Given the description of an element on the screen output the (x, y) to click on. 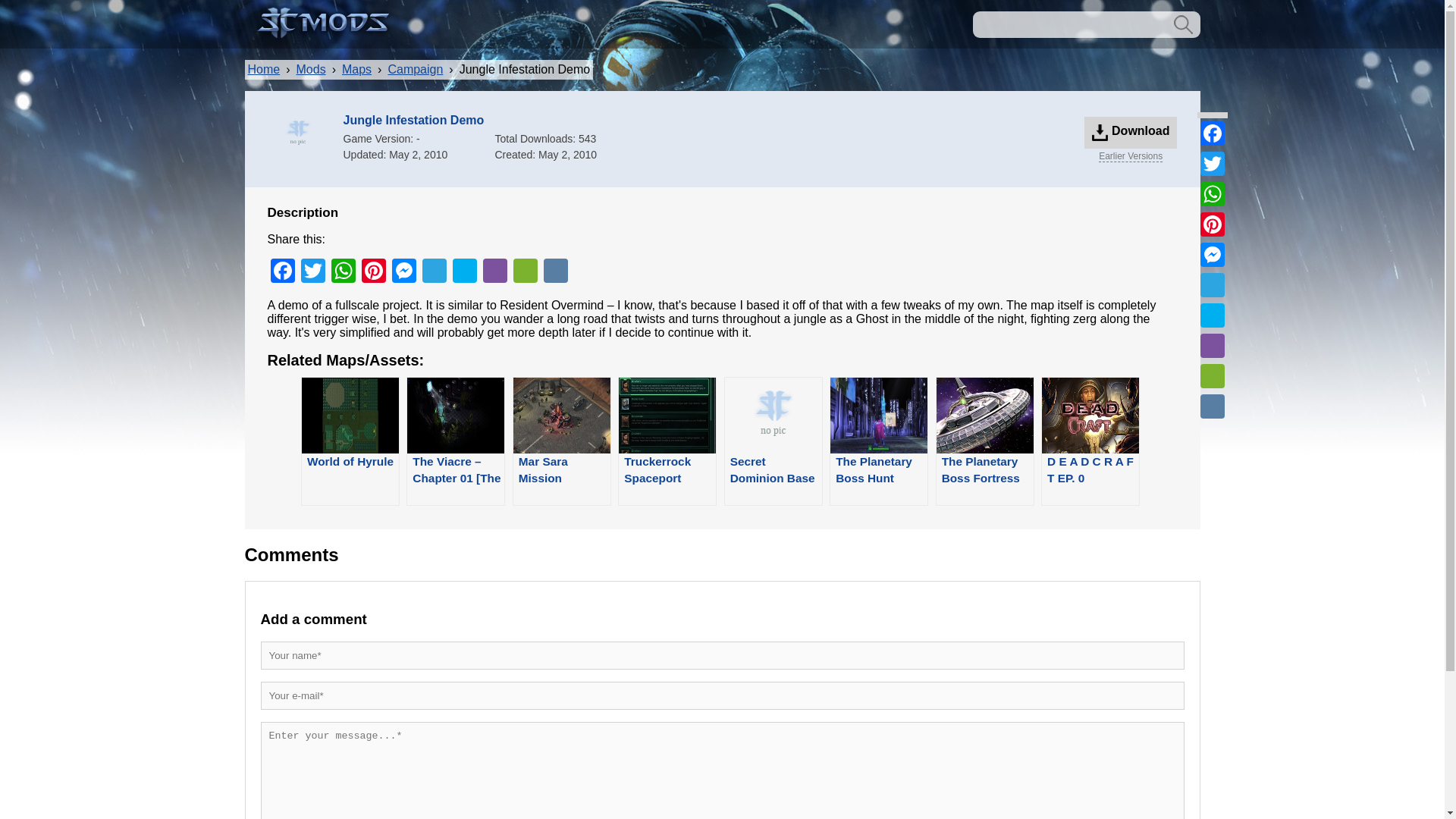
WeChat (524, 272)
Viber (494, 272)
Maps (356, 69)
WhatsApp (342, 272)
Twitter (312, 272)
Download (1130, 132)
Facebook (1211, 132)
Earlier Versions (1130, 155)
VK (555, 272)
VK (1211, 406)
